Given the description of an element on the screen output the (x, y) to click on. 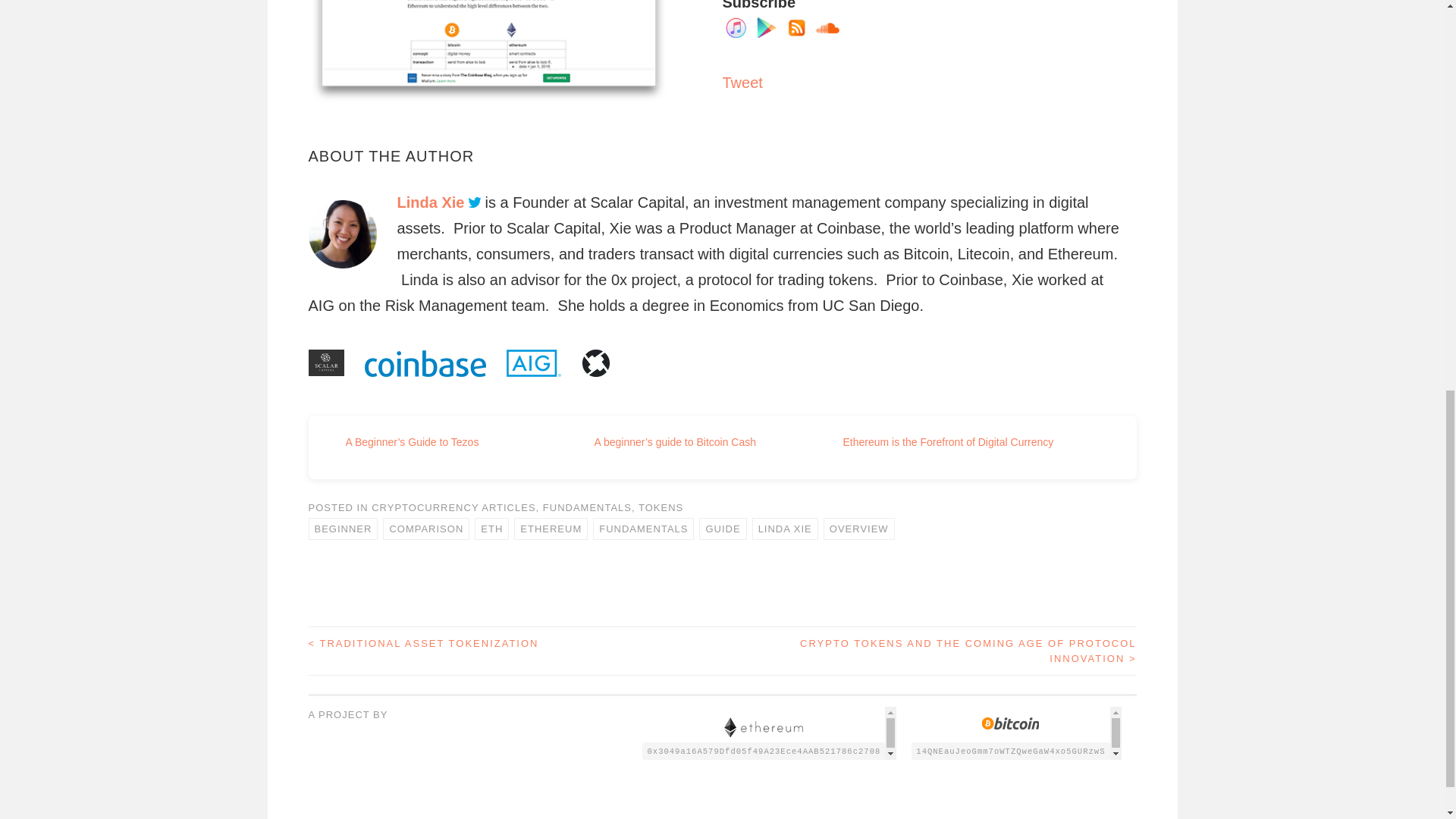
FUNDAMENTALS (643, 528)
BEGINNER (342, 528)
TOKENS (660, 507)
Tweet (741, 82)
Linda Xie (430, 202)
Ethereum is the Forefront of Digital Currency (948, 441)
ETHEREUM (550, 528)
ETH (491, 528)
Ethereum is the Forefront of Digital Currency (948, 441)
Twitter Follow Button (351, 730)
CRYPTOCURRENCY ARTICLES (453, 507)
FUNDAMENTALS (587, 507)
LINDA XIE (785, 528)
OVERVIEW (859, 528)
GUIDE (721, 528)
